Given the description of an element on the screen output the (x, y) to click on. 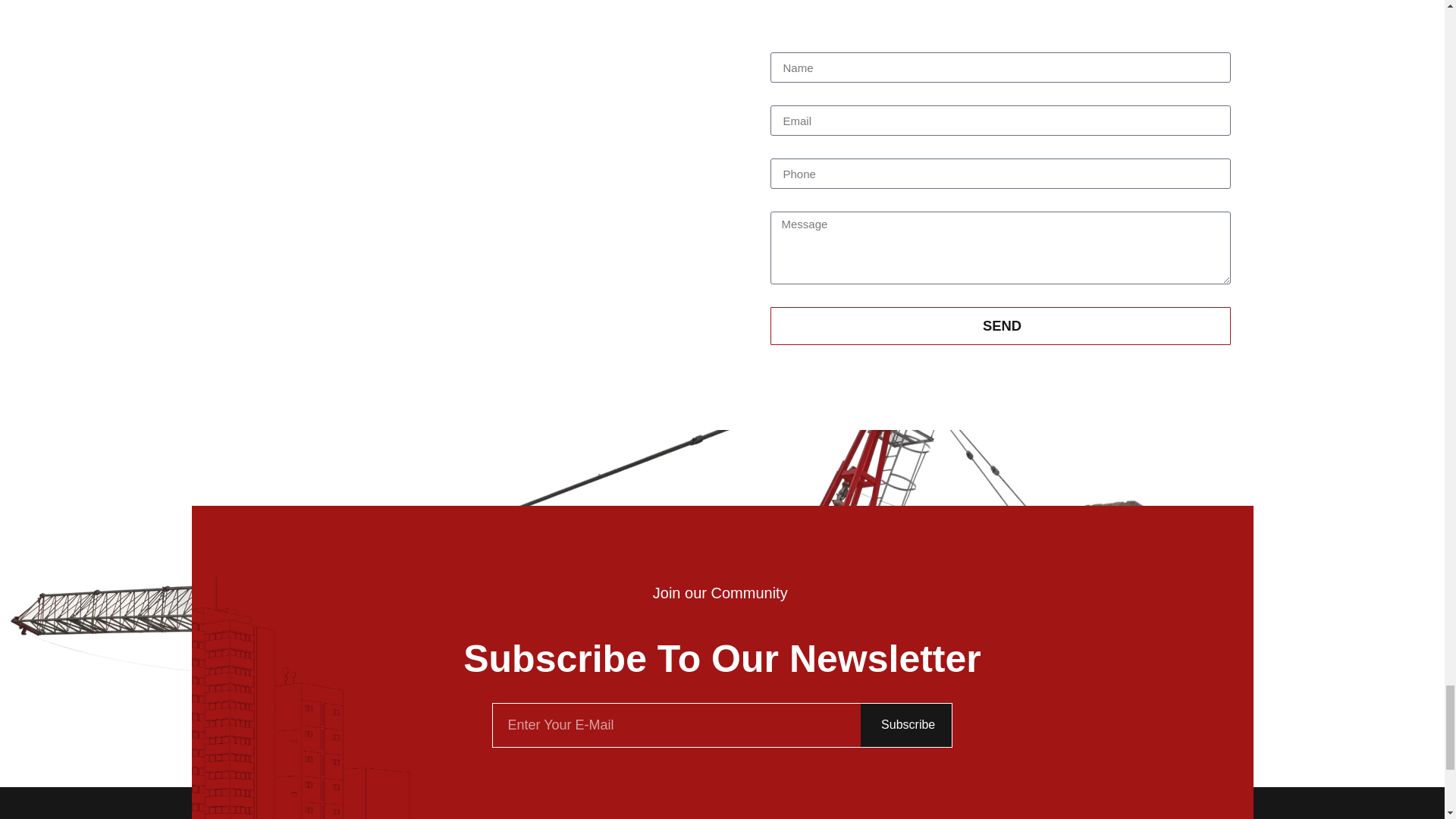
SEND (1000, 325)
Subscribe (906, 724)
